Given the description of an element on the screen output the (x, y) to click on. 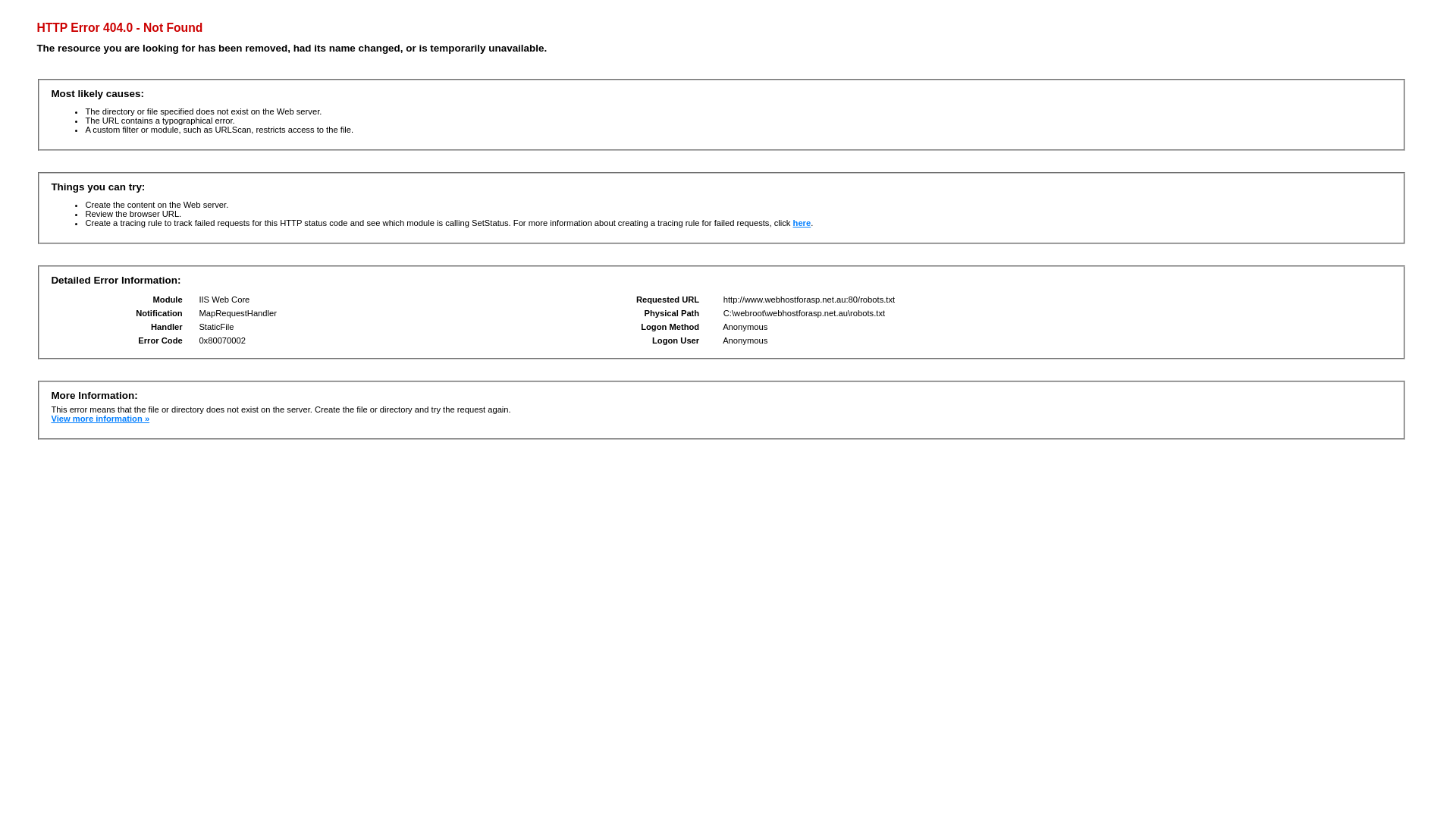
here Element type: text (802, 222)
